Given the description of an element on the screen output the (x, y) to click on. 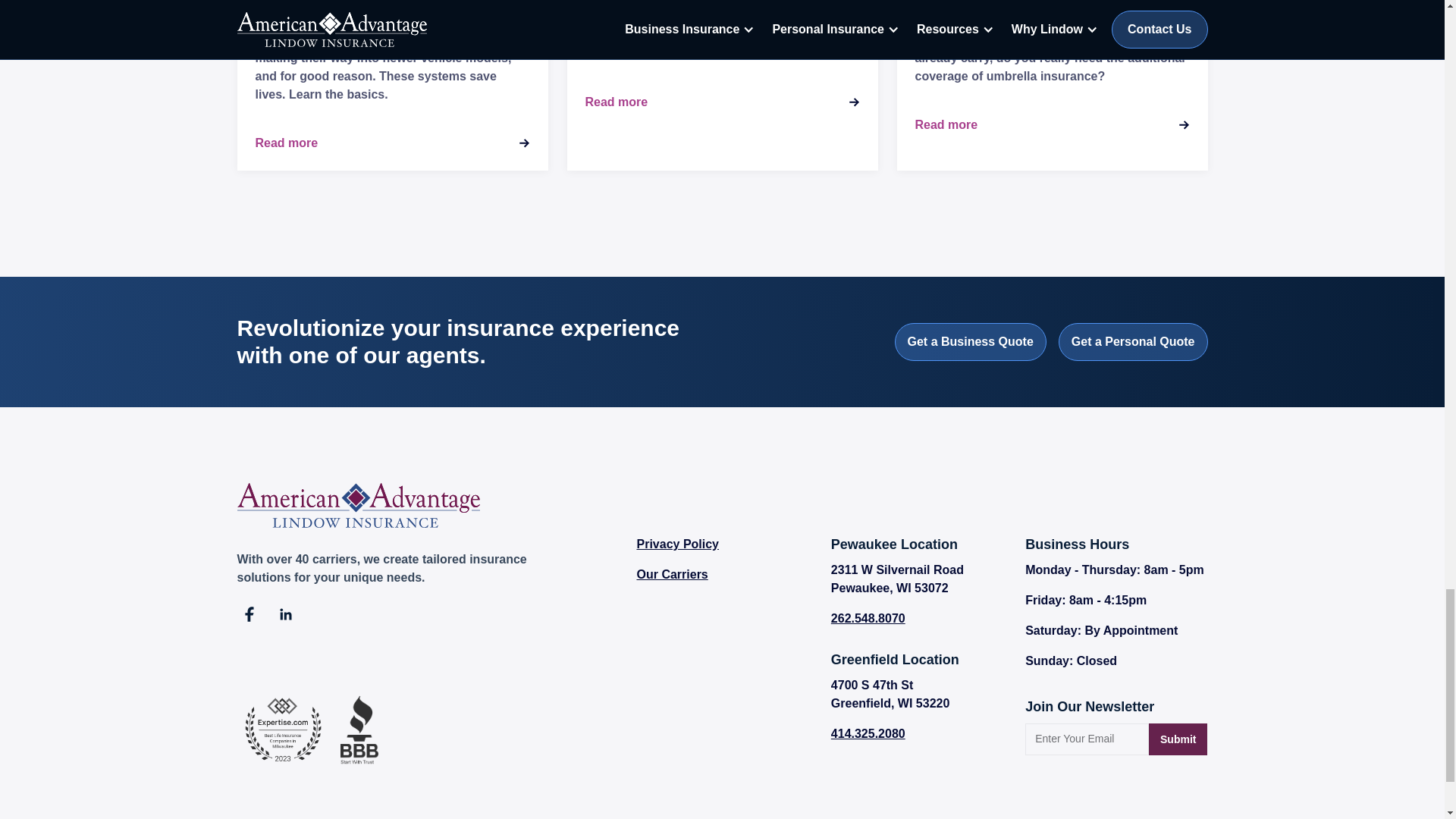
414.325.2080 (922, 733)
Our Carriers (922, 579)
Get a Business Quote (727, 574)
Get a Personal Quote (970, 341)
262.548.8070 (1133, 341)
Privacy Policy (922, 618)
Submit (727, 544)
Monday - Thursday: 8am - 5pm (1177, 739)
